Given the description of an element on the screen output the (x, y) to click on. 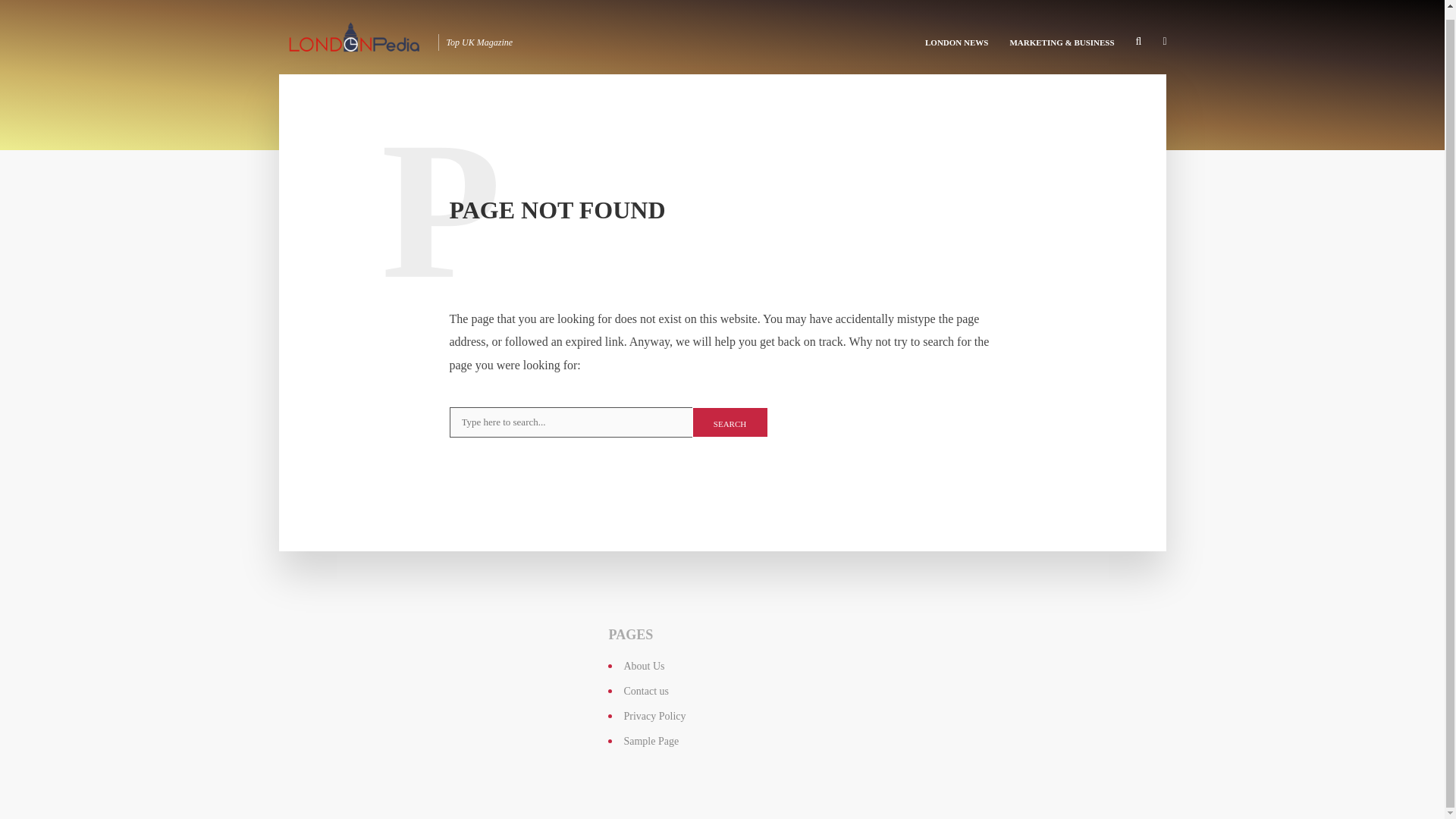
LONDON NEWS (956, 33)
SEARCH (729, 422)
Contact us (645, 690)
About Us (643, 665)
Sample Page (650, 740)
Privacy Policy (654, 715)
